Given the description of an element on the screen output the (x, y) to click on. 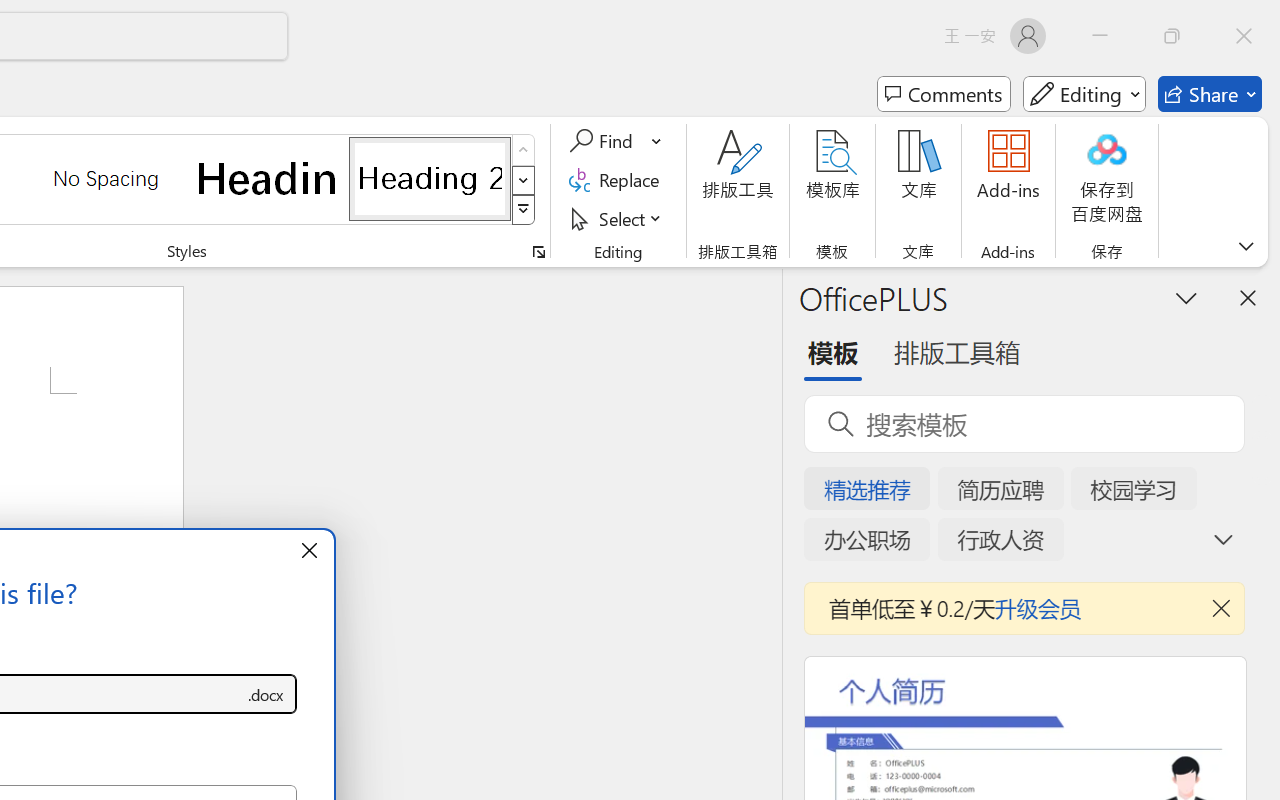
Minimize (1099, 36)
Find (604, 141)
Share (1210, 94)
More Options (657, 141)
Mode (1083, 94)
Heading 1 (267, 178)
Row up (523, 150)
Save as type (265, 694)
